Given the description of an element on the screen output the (x, y) to click on. 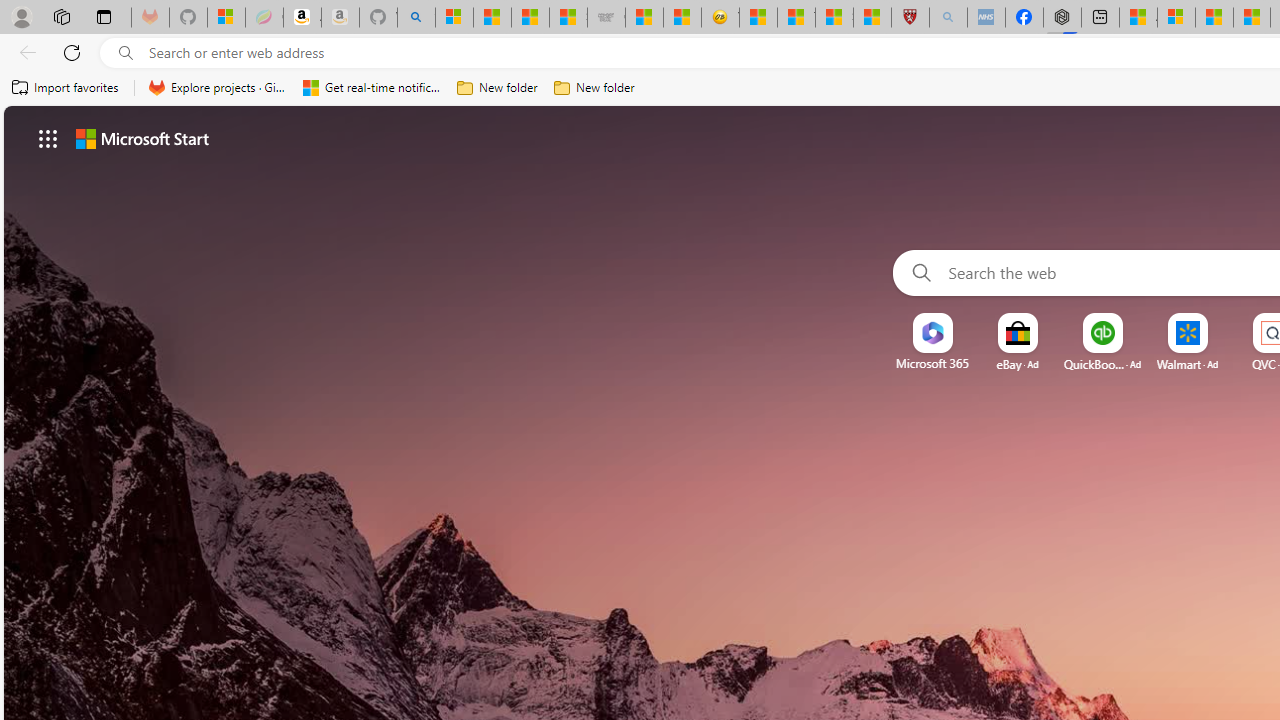
Import favorites (65, 88)
